Given the description of an element on the screen output the (x, y) to click on. 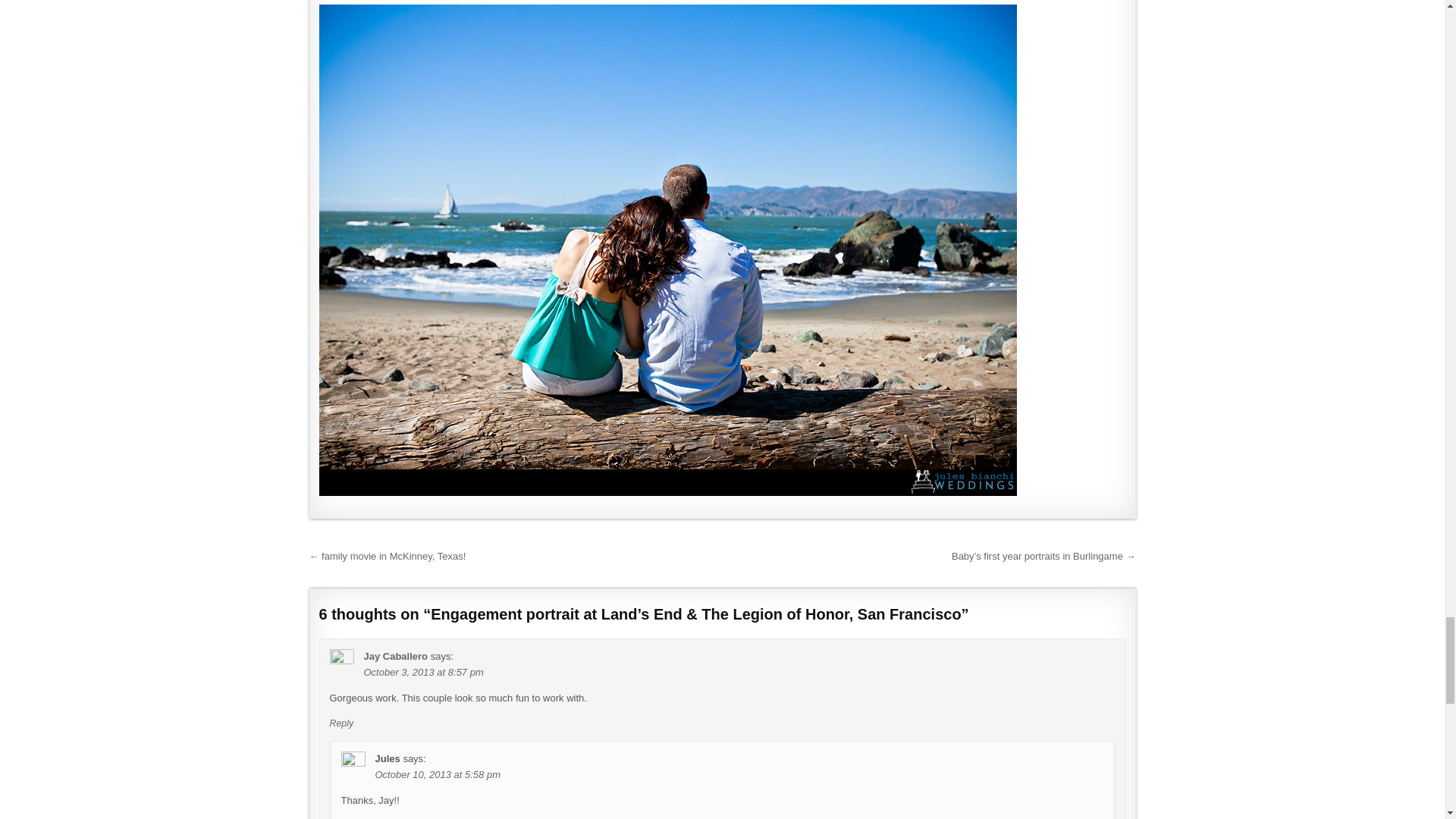
October 3, 2013 at 8:57 pm (423, 672)
October 10, 2013 at 5:58 pm (437, 774)
Reply (341, 723)
Jay Caballero (396, 655)
